Given the description of an element on the screen output the (x, y) to click on. 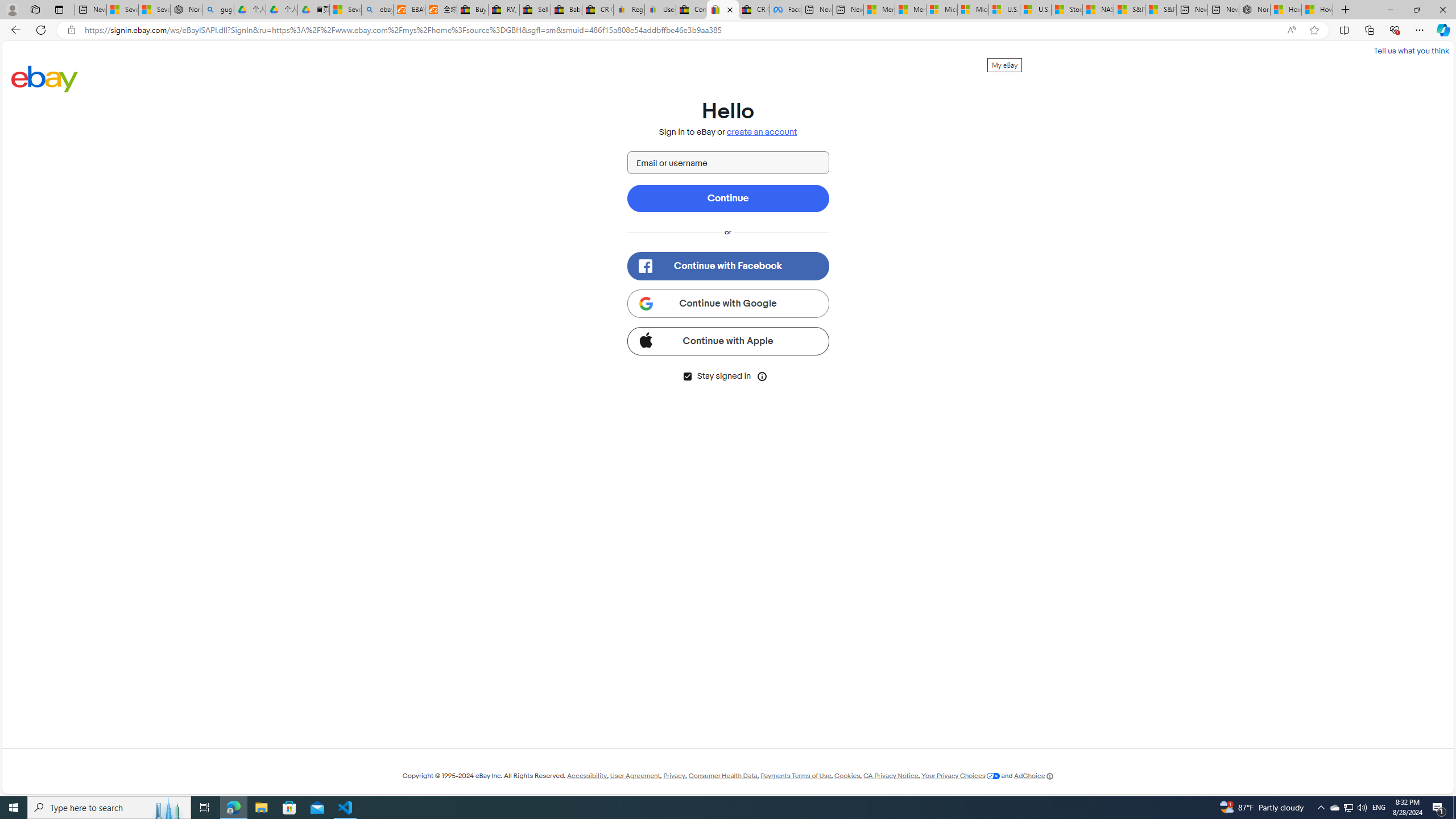
Email or username (727, 162)
eBay Home (44, 78)
Consumer Health Data (722, 775)
create an account (761, 131)
Sign in or Register | eBay (722, 9)
eBay Home (44, 78)
